Given the description of an element on the screen output the (x, y) to click on. 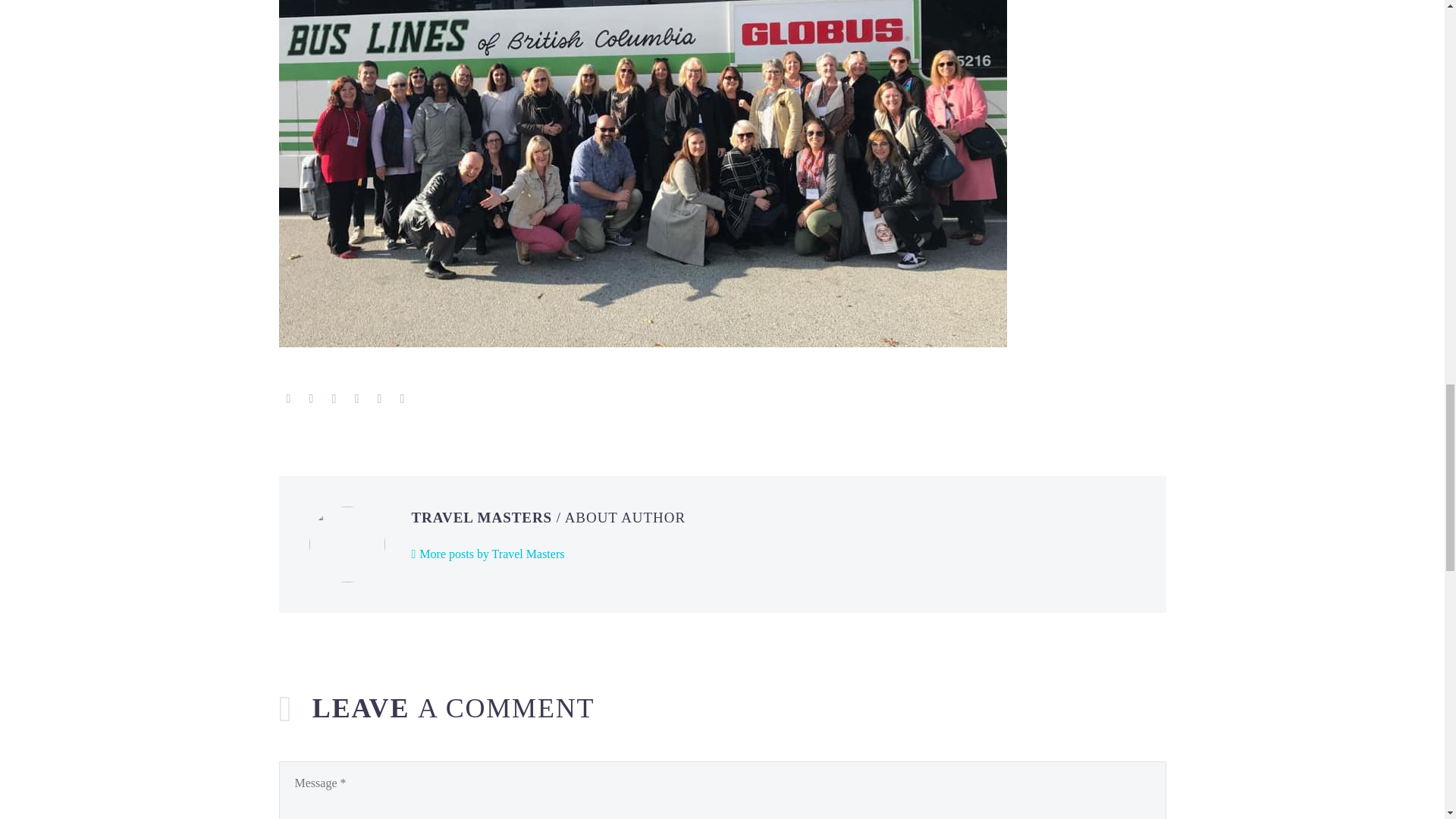
Twitter (310, 398)
Facebook (288, 398)
Reddit (401, 398)
LinkedIn (378, 398)
More posts by Travel Masters (487, 553)
Tumblr (356, 398)
Pinterest (333, 398)
